Given the description of an element on the screen output the (x, y) to click on. 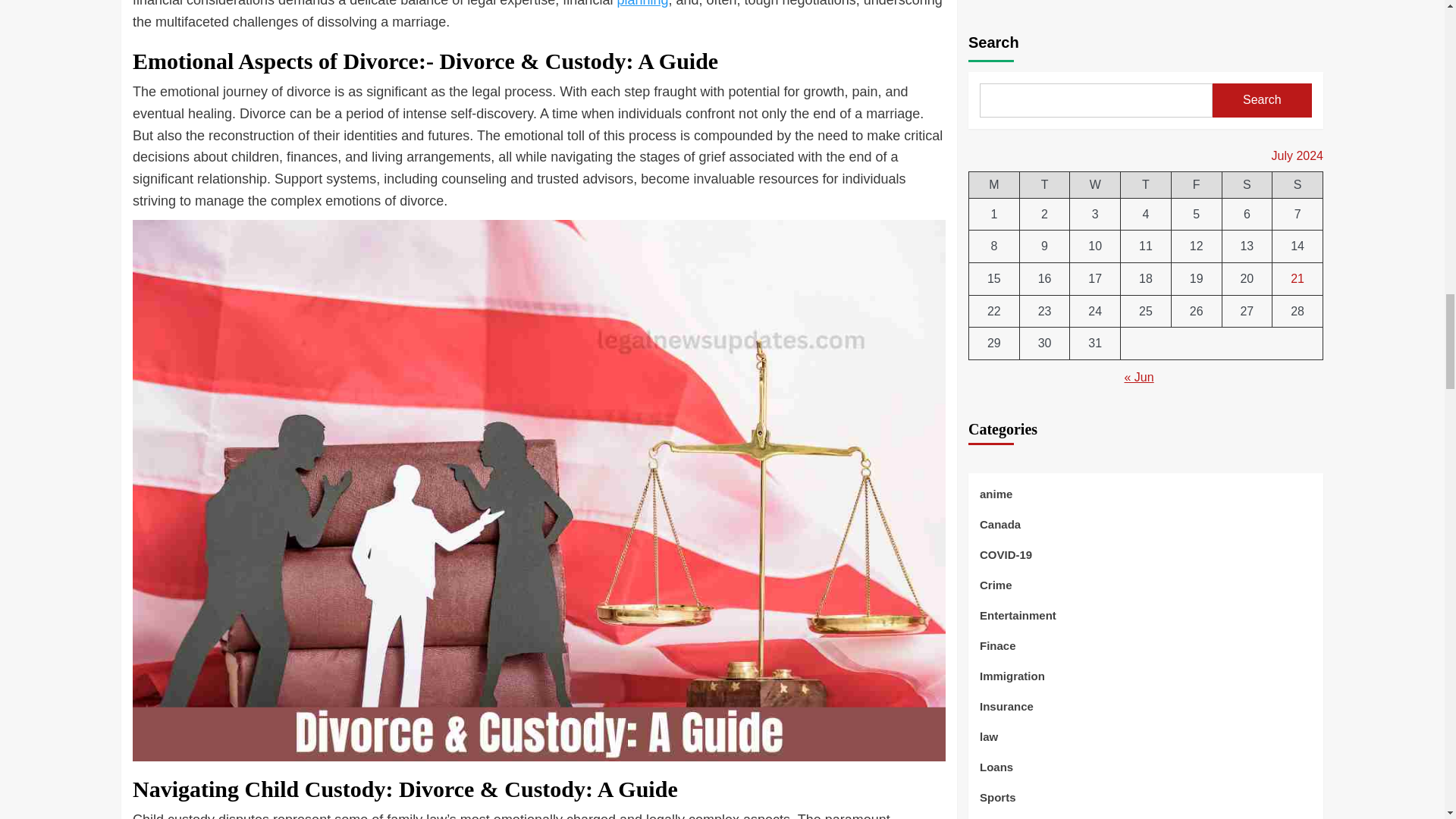
planning (641, 3)
